Given the description of an element on the screen output the (x, y) to click on. 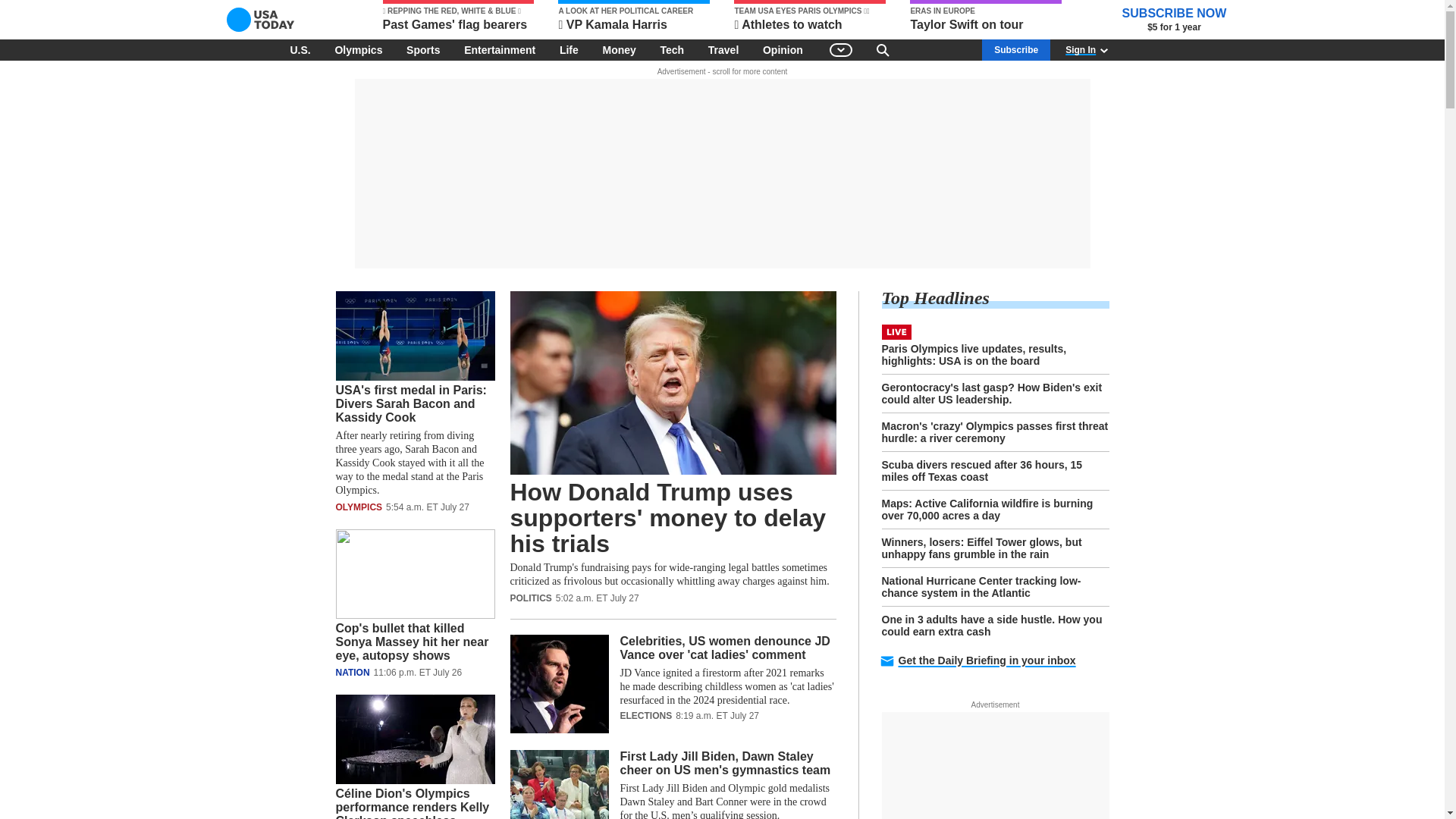
Sports (422, 49)
Money (618, 49)
Tech (671, 49)
U.S. (299, 49)
Taylor Swift on tour (985, 17)
Olympics (358, 49)
Travel (722, 49)
Entertainment (500, 49)
Opinion (782, 49)
Past Games' flag bearers (457, 17)
Life (568, 49)
Search (882, 49)
